Given the description of an element on the screen output the (x, y) to click on. 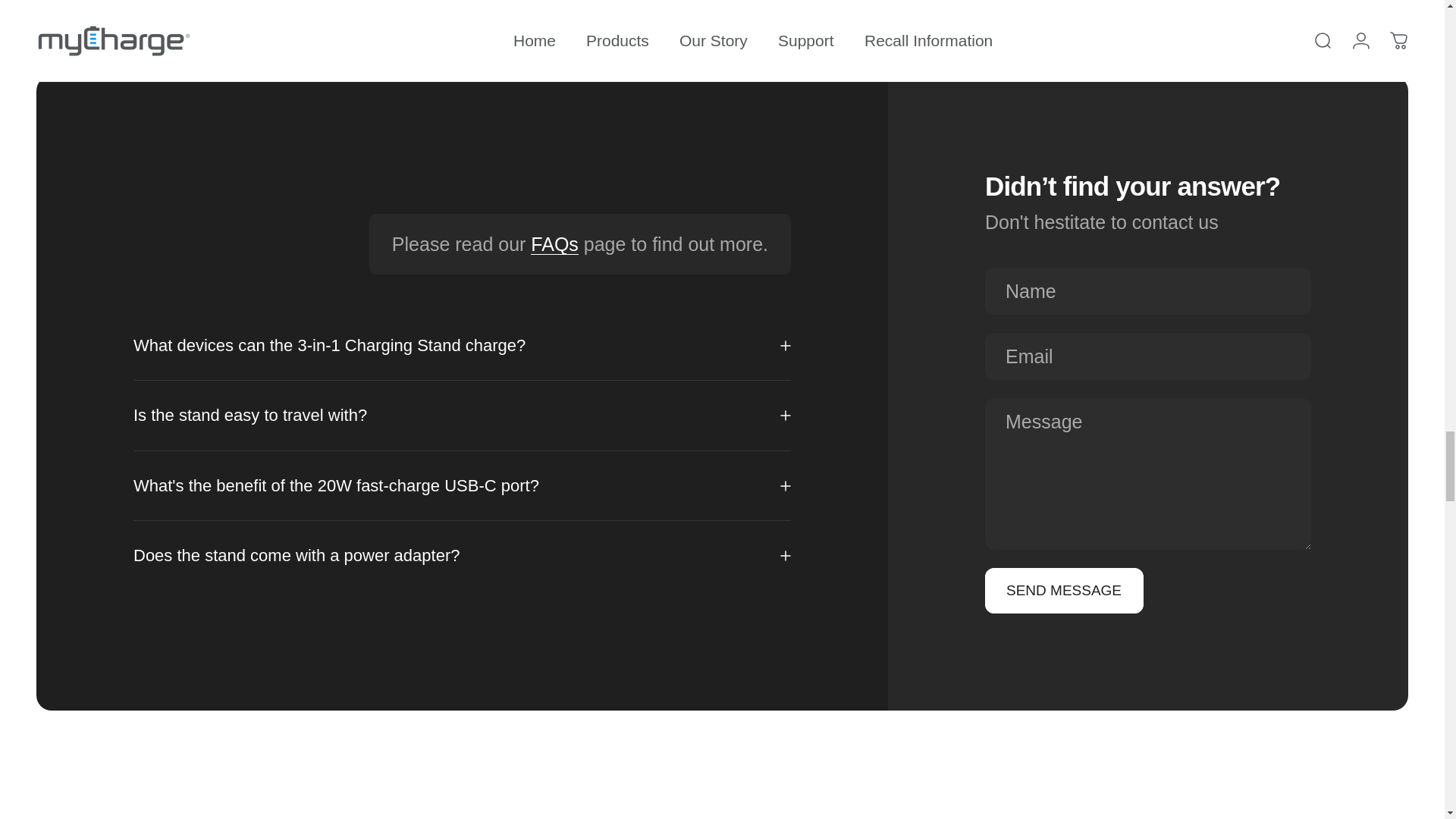
FAQ's (554, 243)
